Given the description of an element on the screen output the (x, y) to click on. 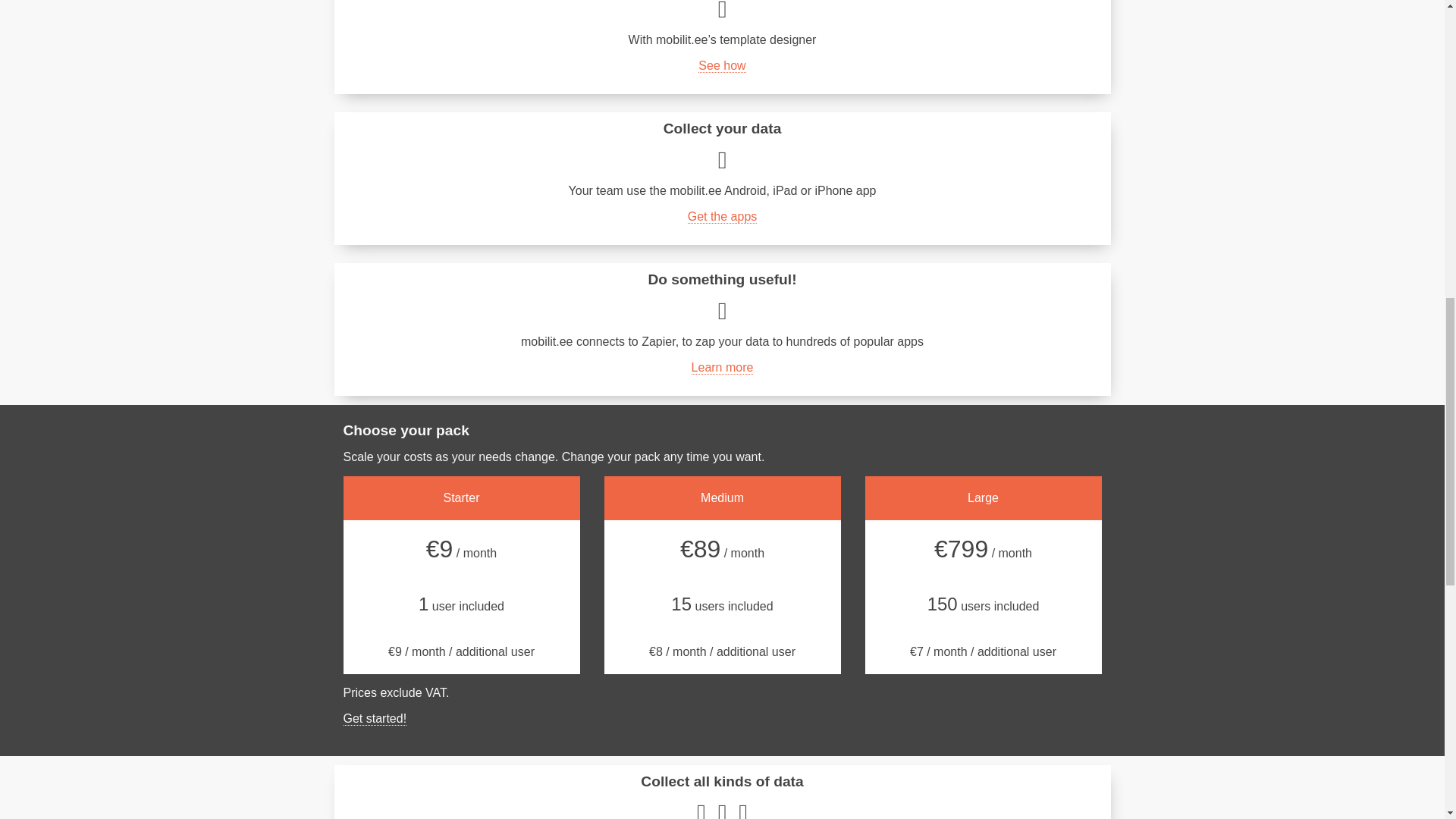
See how (721, 65)
Get the apps (722, 216)
Learn more (722, 367)
Get started! (374, 718)
